Given the description of an element on the screen output the (x, y) to click on. 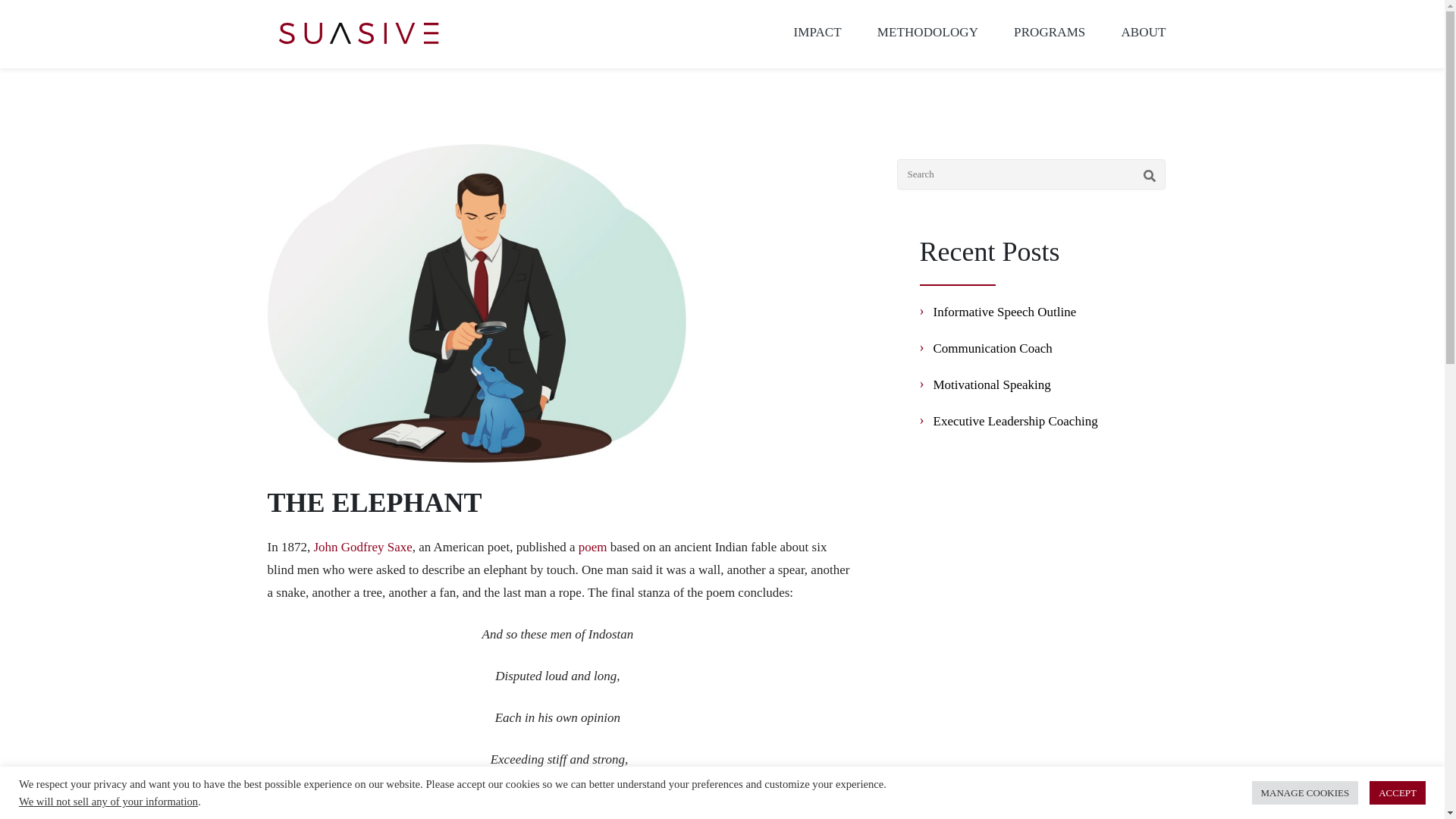
ABOUT (1143, 32)
IMPACT (817, 32)
Programs (1048, 32)
Impact (817, 32)
About (1143, 32)
Methodology (927, 32)
METHODOLOGY (927, 32)
PROGRAMS (1048, 32)
John Godfrey Saxe (362, 547)
poem (592, 547)
